Given the description of an element on the screen output the (x, y) to click on. 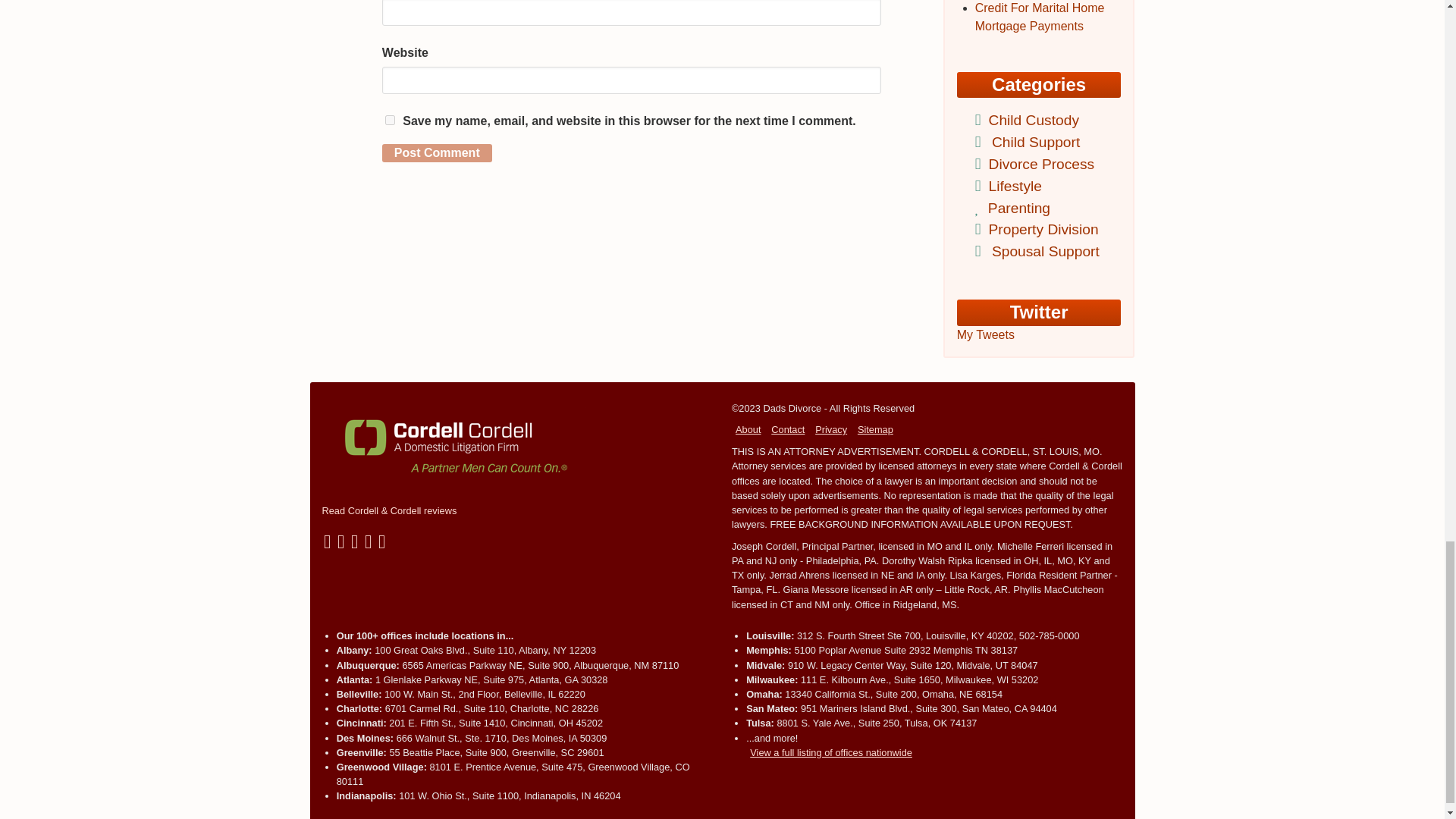
yes (389, 120)
Post Comment (436, 153)
